Given the description of an element on the screen output the (x, y) to click on. 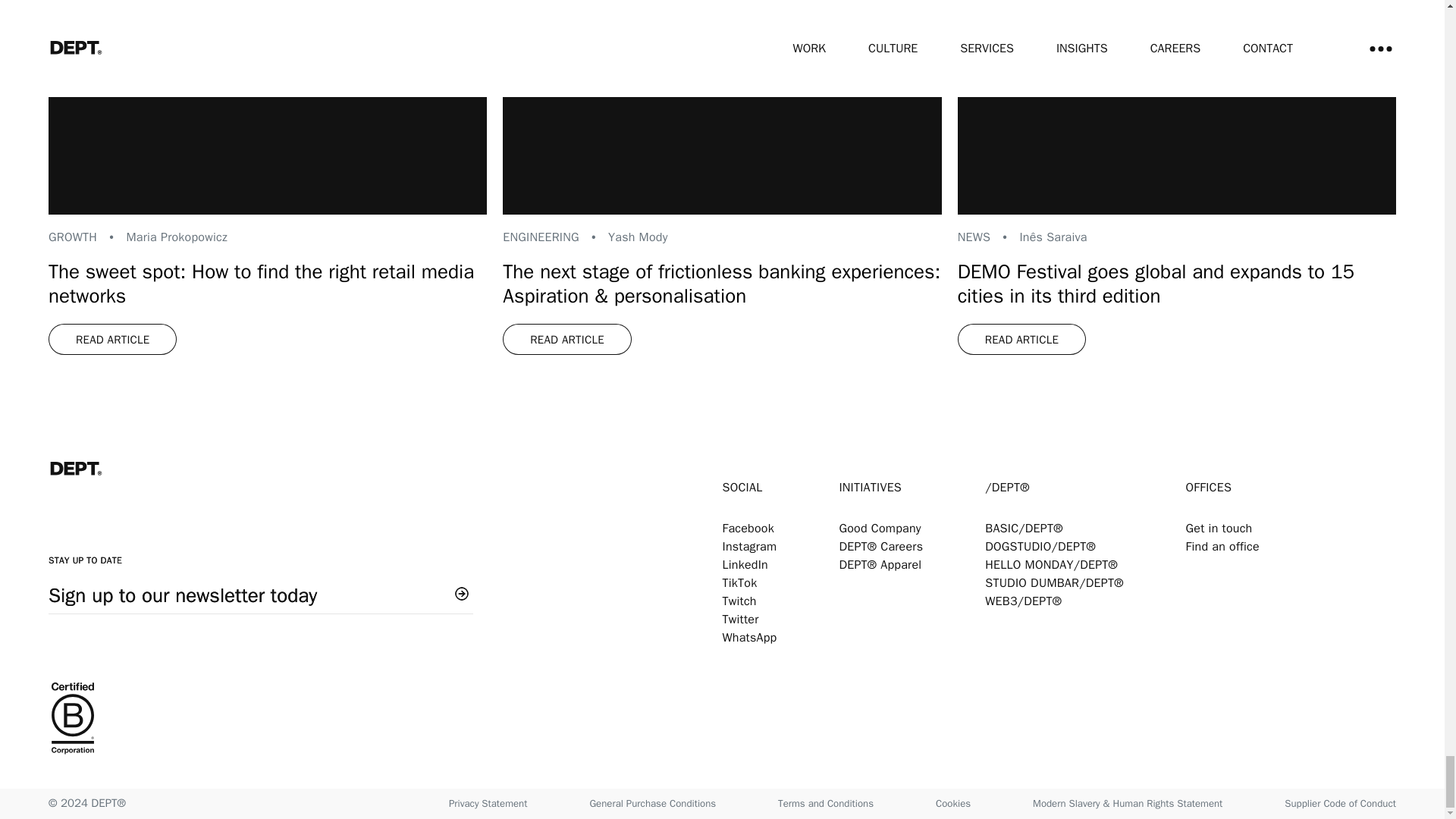
Certified BCorp corporation (385, 719)
